Given the description of an element on the screen output the (x, y) to click on. 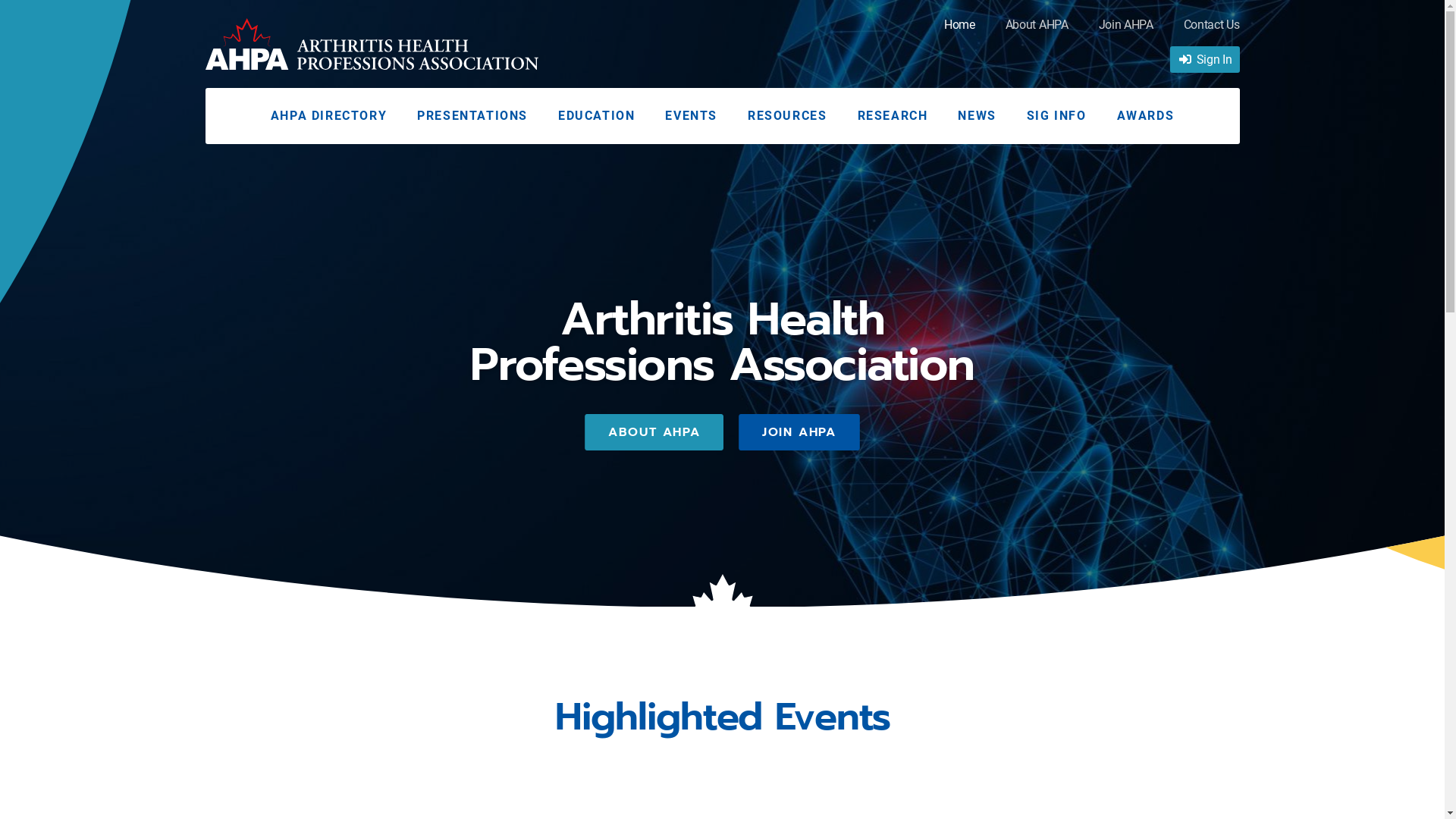
RESOURCES Element type: text (786, 115)
EVENTS Element type: text (690, 115)
SIG INFO Element type: text (1056, 115)
About AHPA Element type: text (1036, 28)
RESEARCH Element type: text (891, 115)
JOIN AHPA Element type: text (798, 432)
Contact Us Element type: text (1211, 28)
NEWS Element type: text (976, 115)
AHPA DIRECTORY Element type: text (328, 115)
ABOUT AHPA Element type: text (653, 432)
Home Element type: text (959, 28)
PRESENTATIONS Element type: text (471, 115)
EDUCATION Element type: text (595, 115)
AWARDS Element type: text (1145, 115)
Sign In Element type: text (1204, 59)
Join AHPA Element type: text (1125, 28)
